Given the description of an element on the screen output the (x, y) to click on. 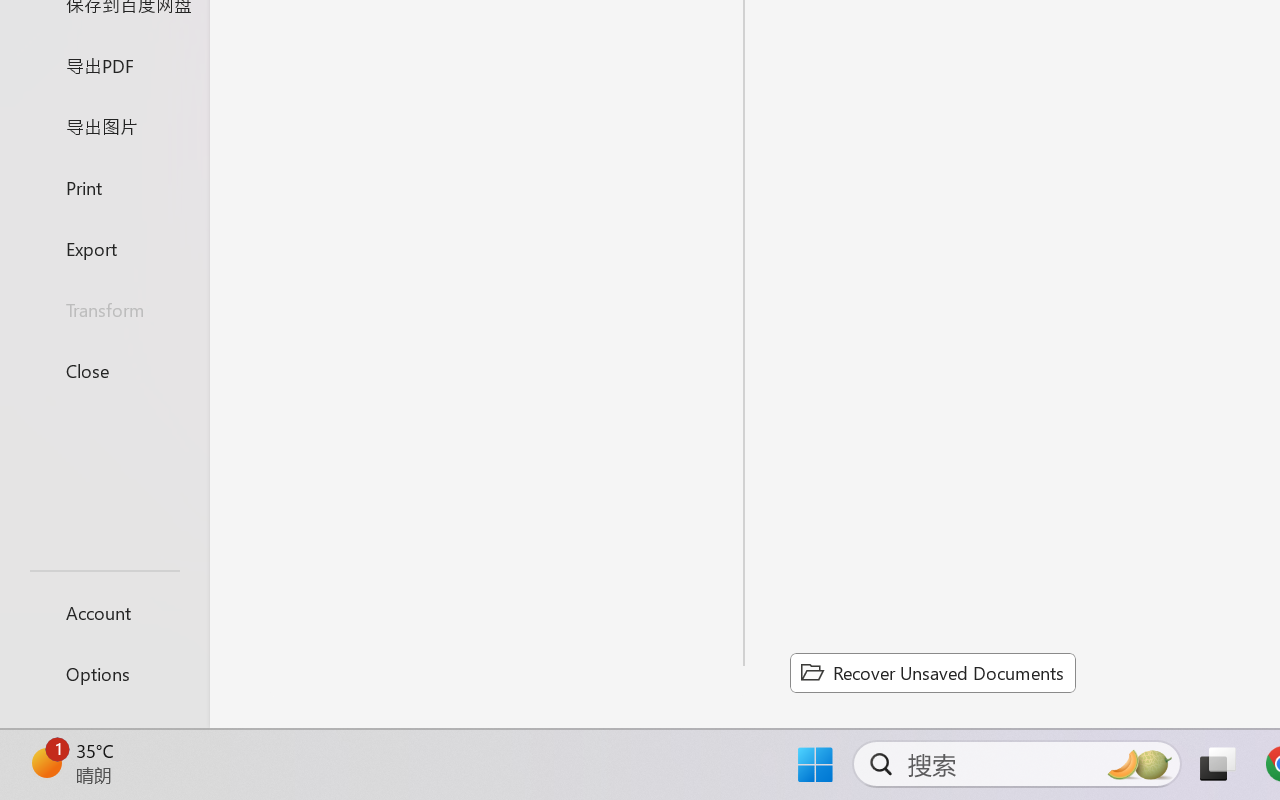
Transform (104, 309)
Recover Unsaved Documents (932, 672)
Options (104, 673)
Account (104, 612)
Print (104, 186)
Export (104, 248)
